Given the description of an element on the screen output the (x, y) to click on. 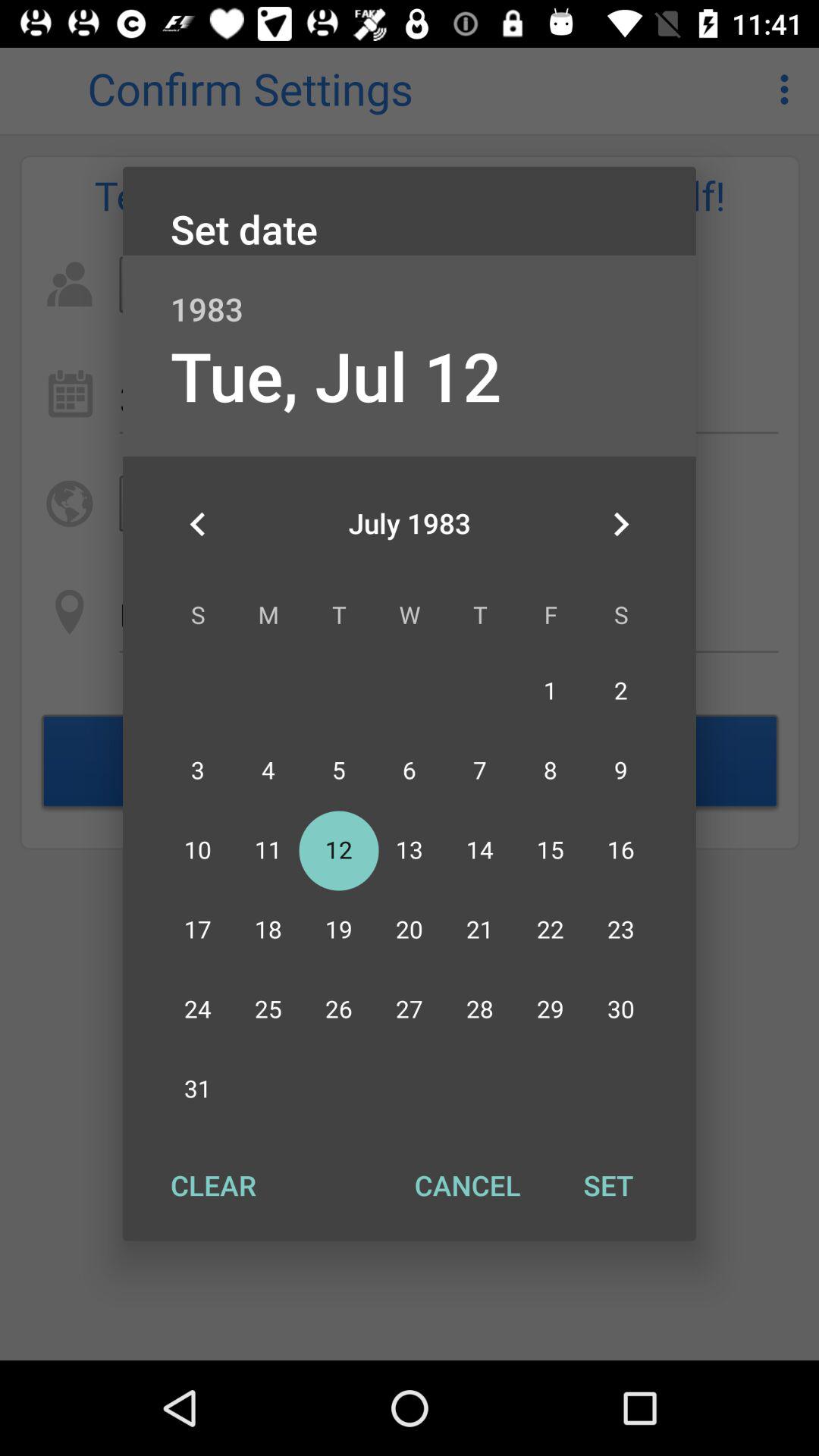
turn off cancel item (467, 1185)
